Given the description of an element on the screen output the (x, y) to click on. 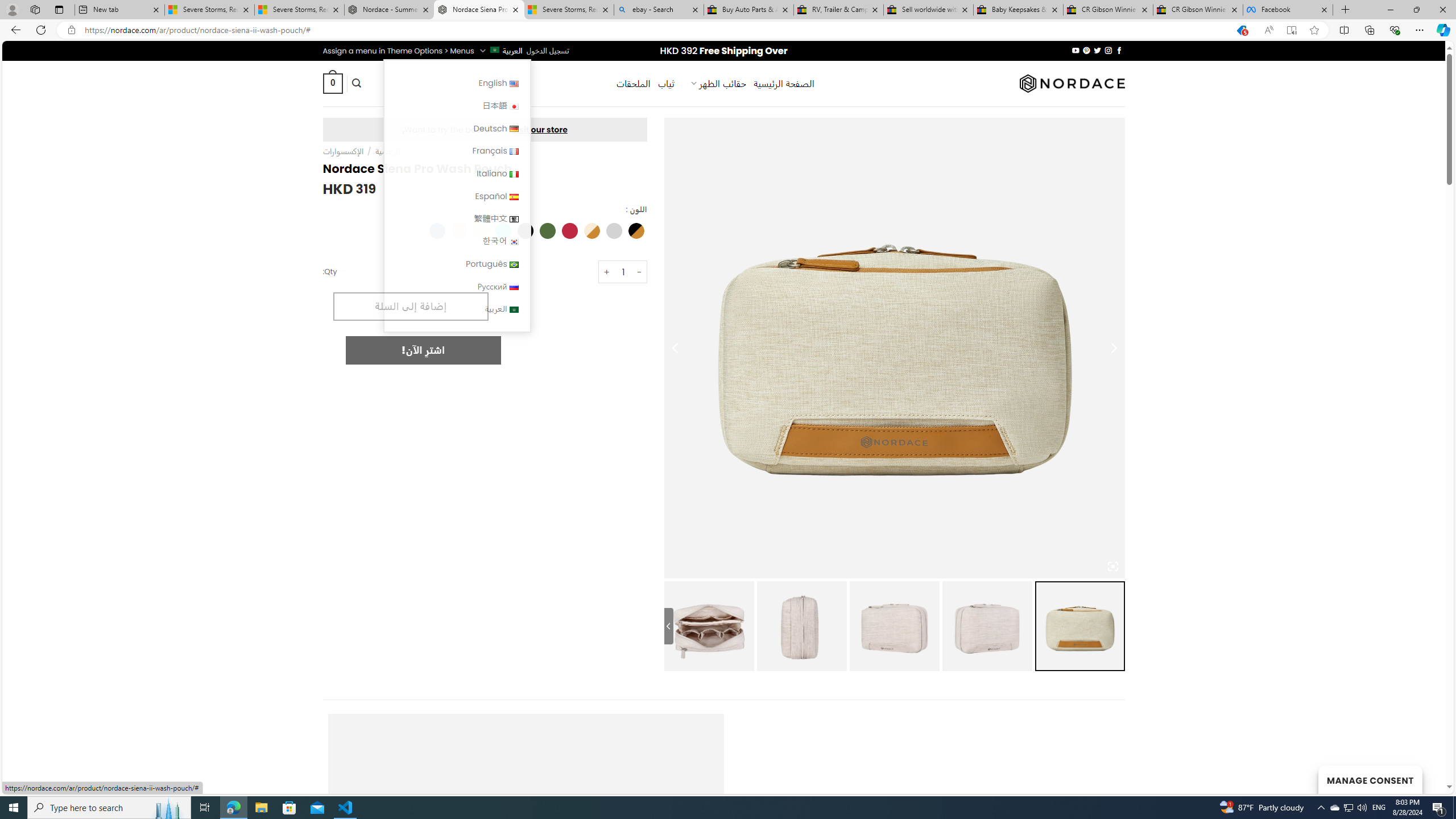
 0  (332, 83)
Italiano  (456, 173)
Nordace - Summer Adventures 2024 (389, 9)
View site information (70, 29)
Nordace (1072, 83)
Nordace Siena Pro Wash Pouch (478, 9)
Facebook (1287, 9)
New Tab (1346, 9)
